Given the description of an element on the screen output the (x, y) to click on. 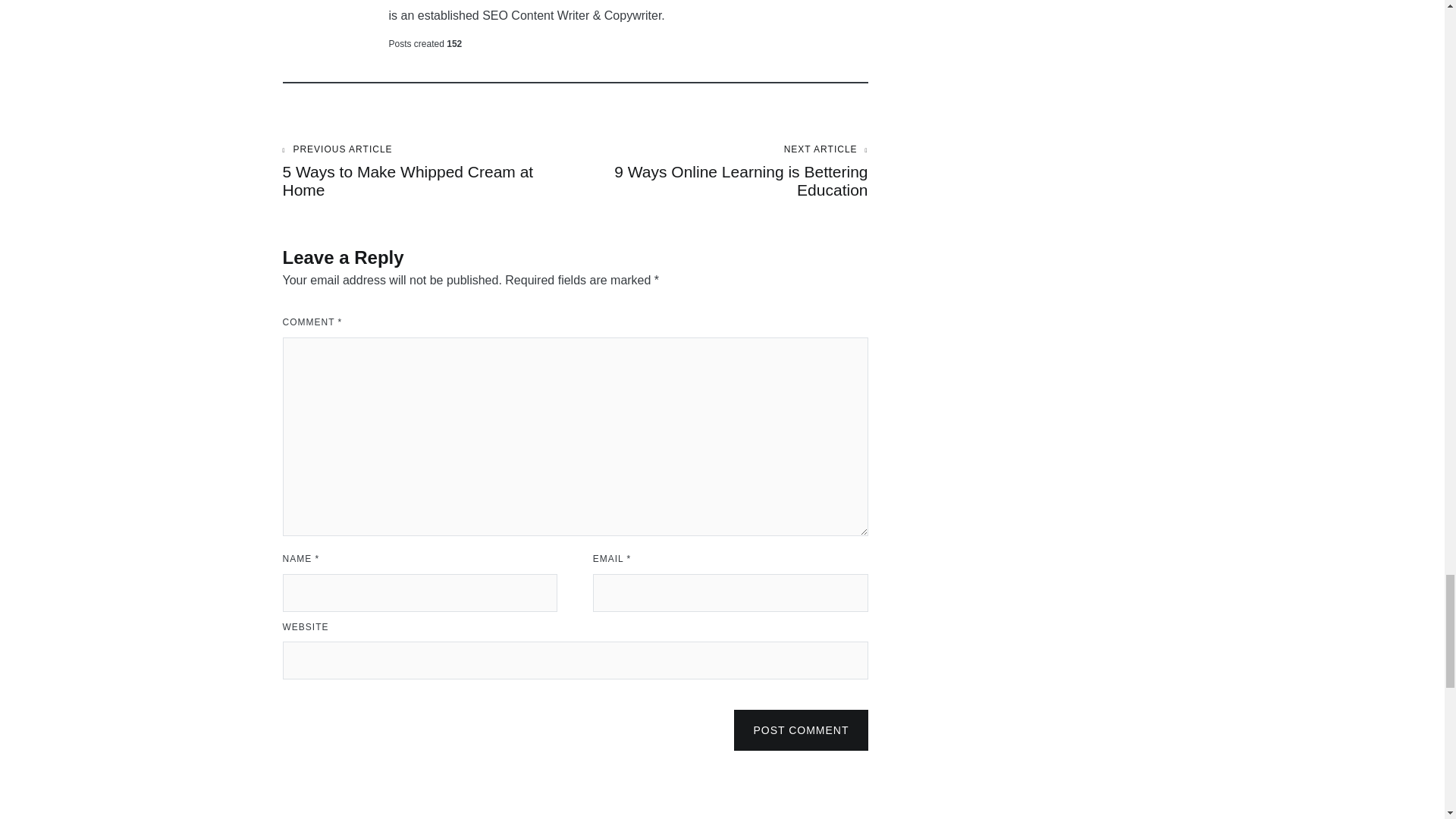
POST COMMENT (428, 171)
